Given the description of an element on the screen output the (x, y) to click on. 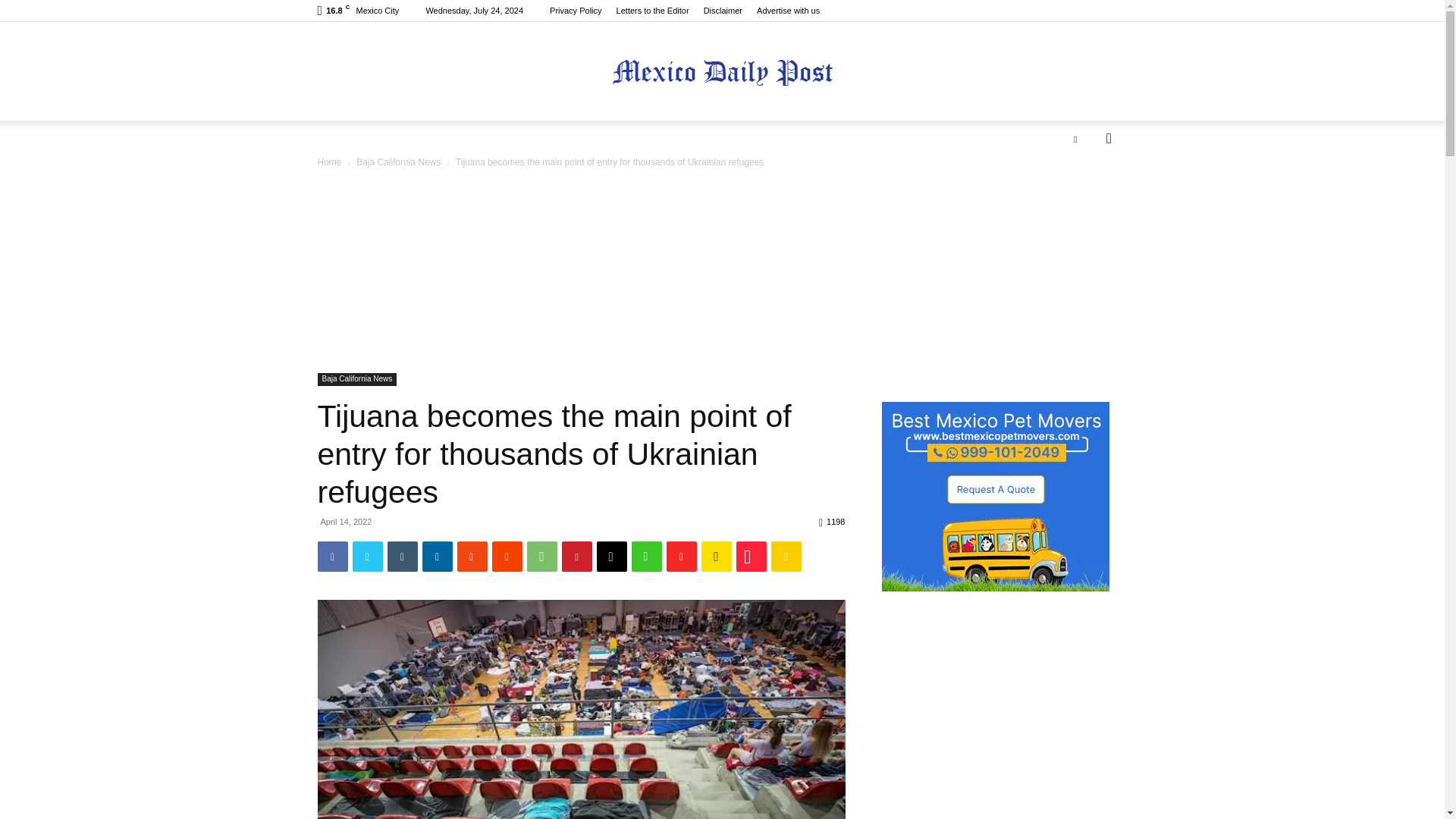
Baja California News (356, 379)
Disclaimer (722, 10)
Twitter (366, 556)
View all posts in Baja California News (398, 162)
WhatsApp (540, 556)
Flip (680, 556)
Naver (645, 556)
Advertise with us (788, 10)
Baja California News (398, 162)
Mix (471, 556)
Home (328, 162)
Kakao Story (715, 556)
Privacy Policy (575, 10)
Linkedin (436, 556)
ReddIt (506, 556)
